Given the description of an element on the screen output the (x, y) to click on. 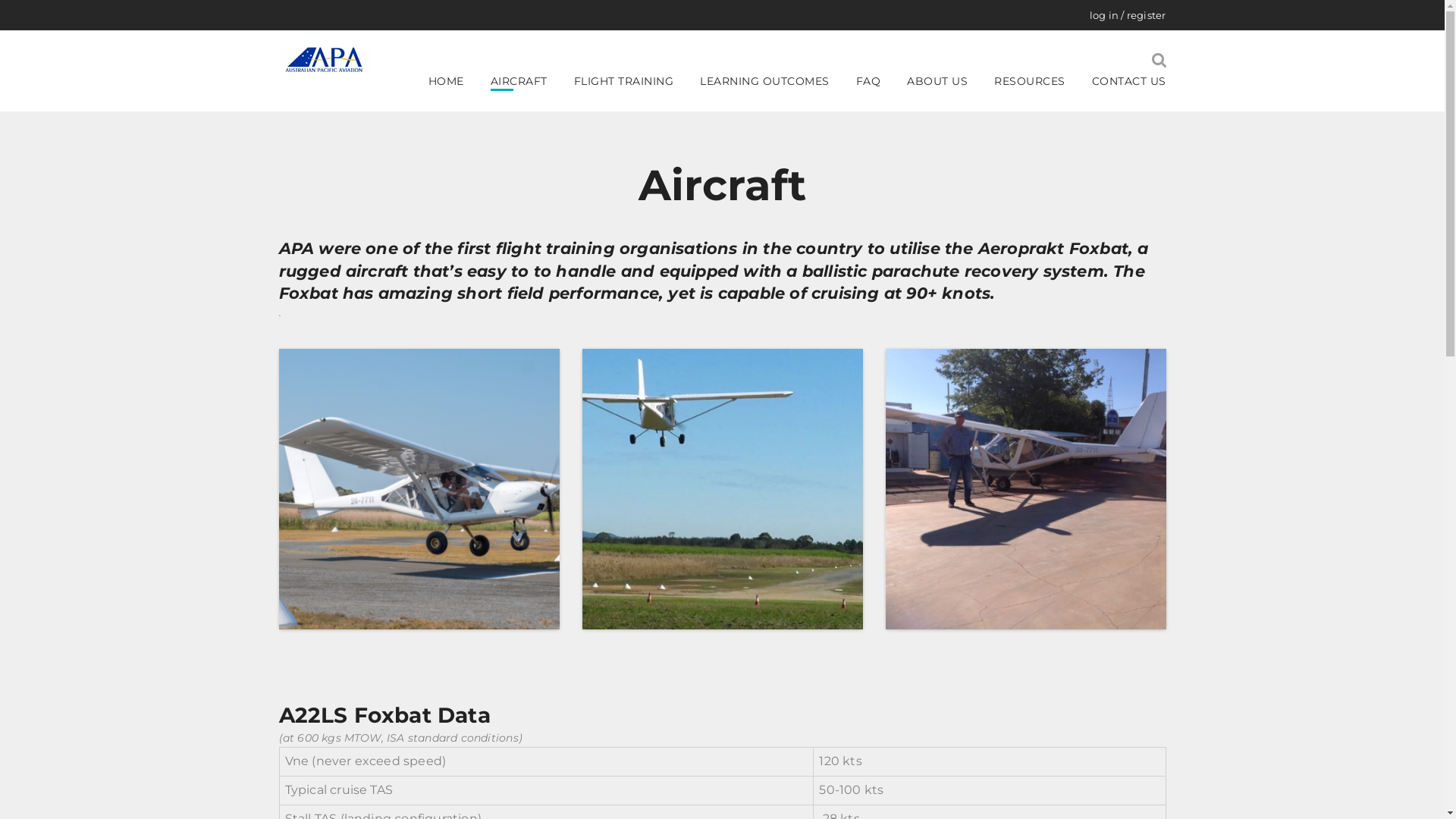
FLIGHT TRAINING Element type: text (632, 81)
RESOURCES Element type: text (1039, 81)
IMG_2179 (2) Element type: hover (419, 488)
AIRCRAFT Element type: text (527, 81)
IMG_2058 Element type: hover (1025, 488)
FAQ Element type: text (877, 81)
HOME Element type: text (454, 81)
CONTACT US Element type: text (1129, 81)
log in / register Element type: text (1127, 14)
LEARNING OUTCOMES Element type: text (773, 81)
ABOUT US Element type: text (946, 81)
FullSizeRender Element type: hover (722, 488)
